Given the description of an element on the screen output the (x, y) to click on. 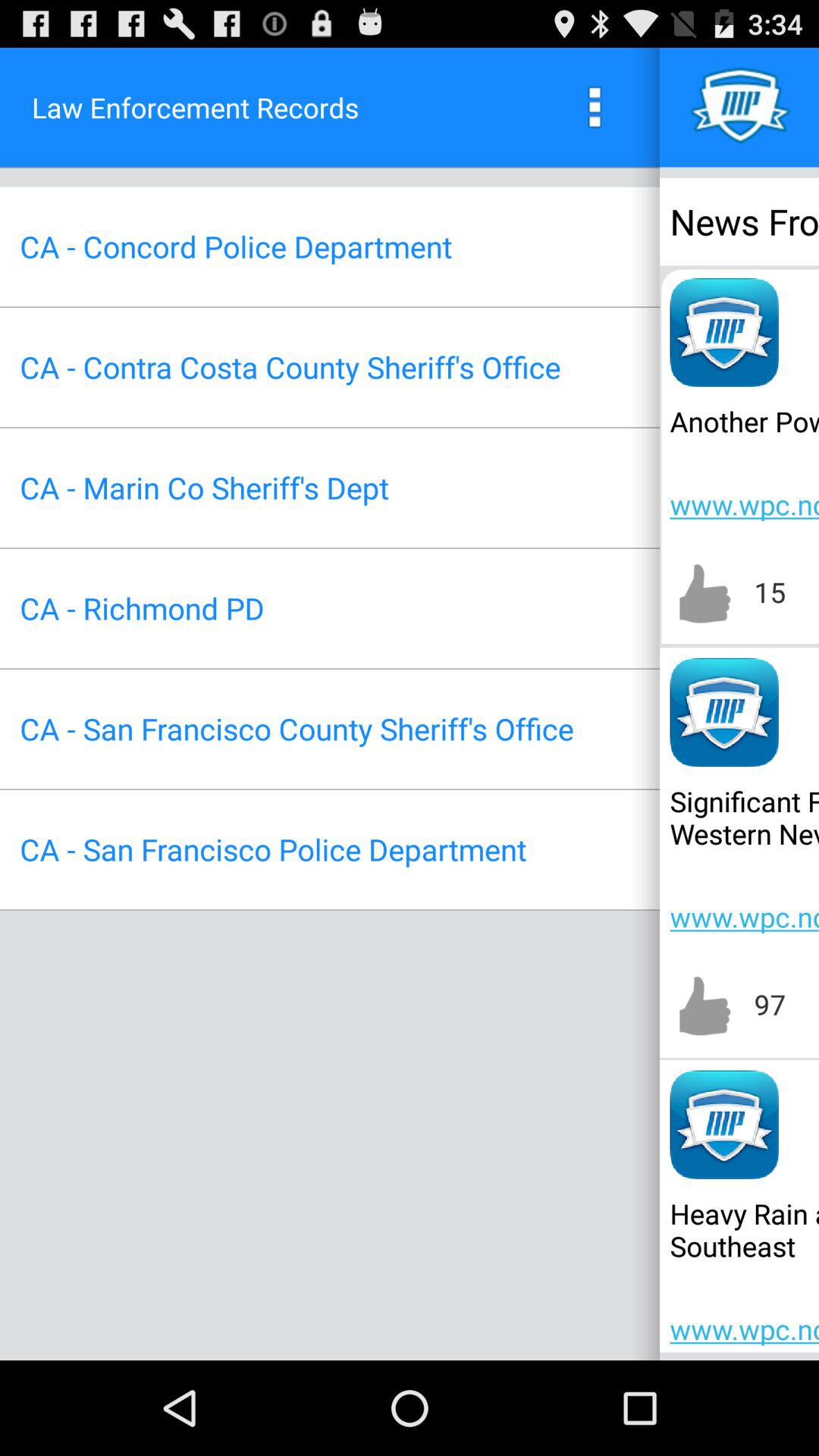
flip until the ca contra costa icon (289, 366)
